Given the description of an element on the screen output the (x, y) to click on. 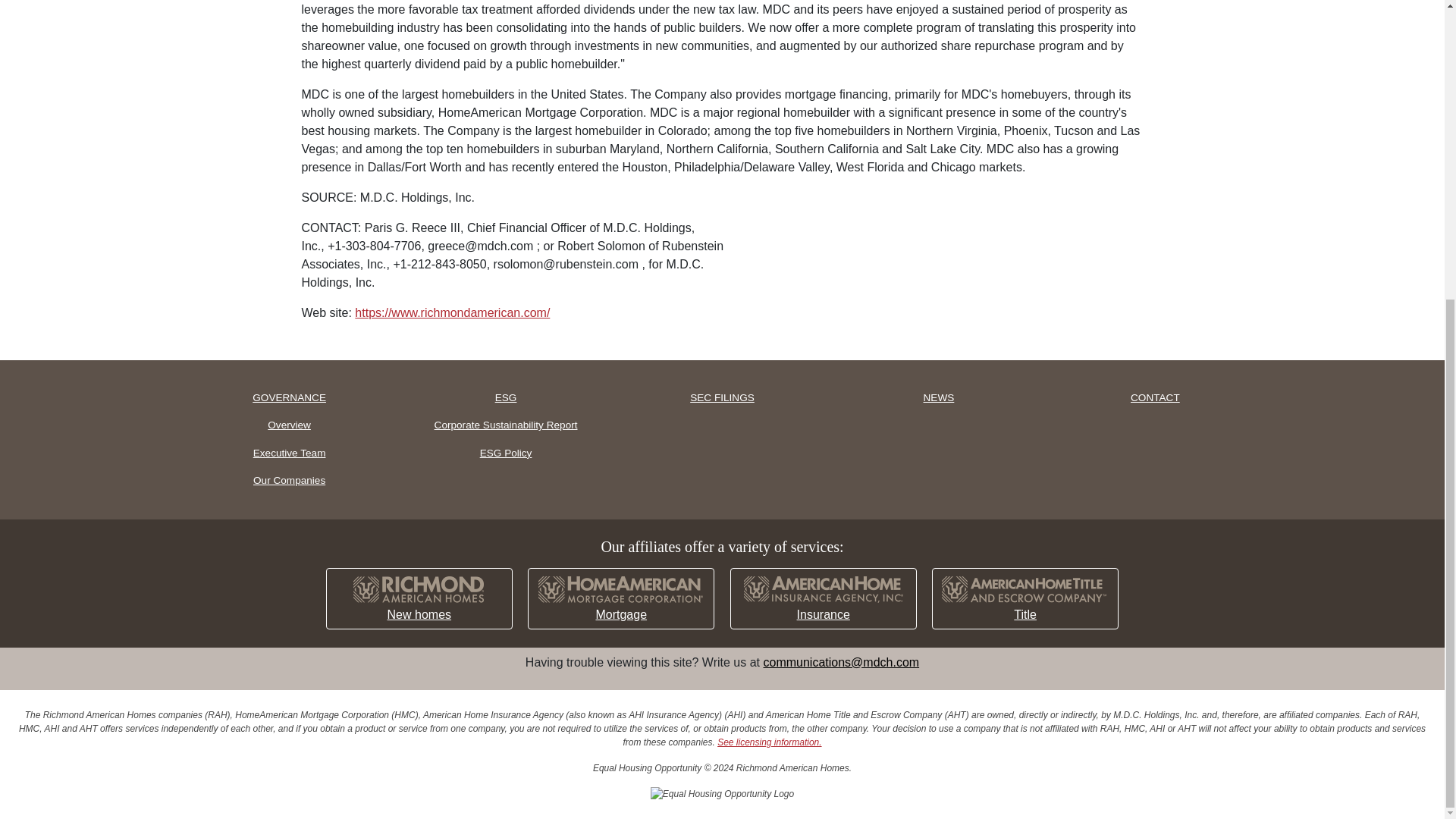
Overview (289, 424)
Title (1024, 598)
NEWS (938, 397)
See licensing information. (769, 742)
Mortgage (620, 598)
Insurance (823, 598)
SEC FILINGS (721, 397)
Executive Team (289, 452)
New homes (419, 598)
Corporate Sustainability Report (505, 424)
